Given the description of an element on the screen output the (x, y) to click on. 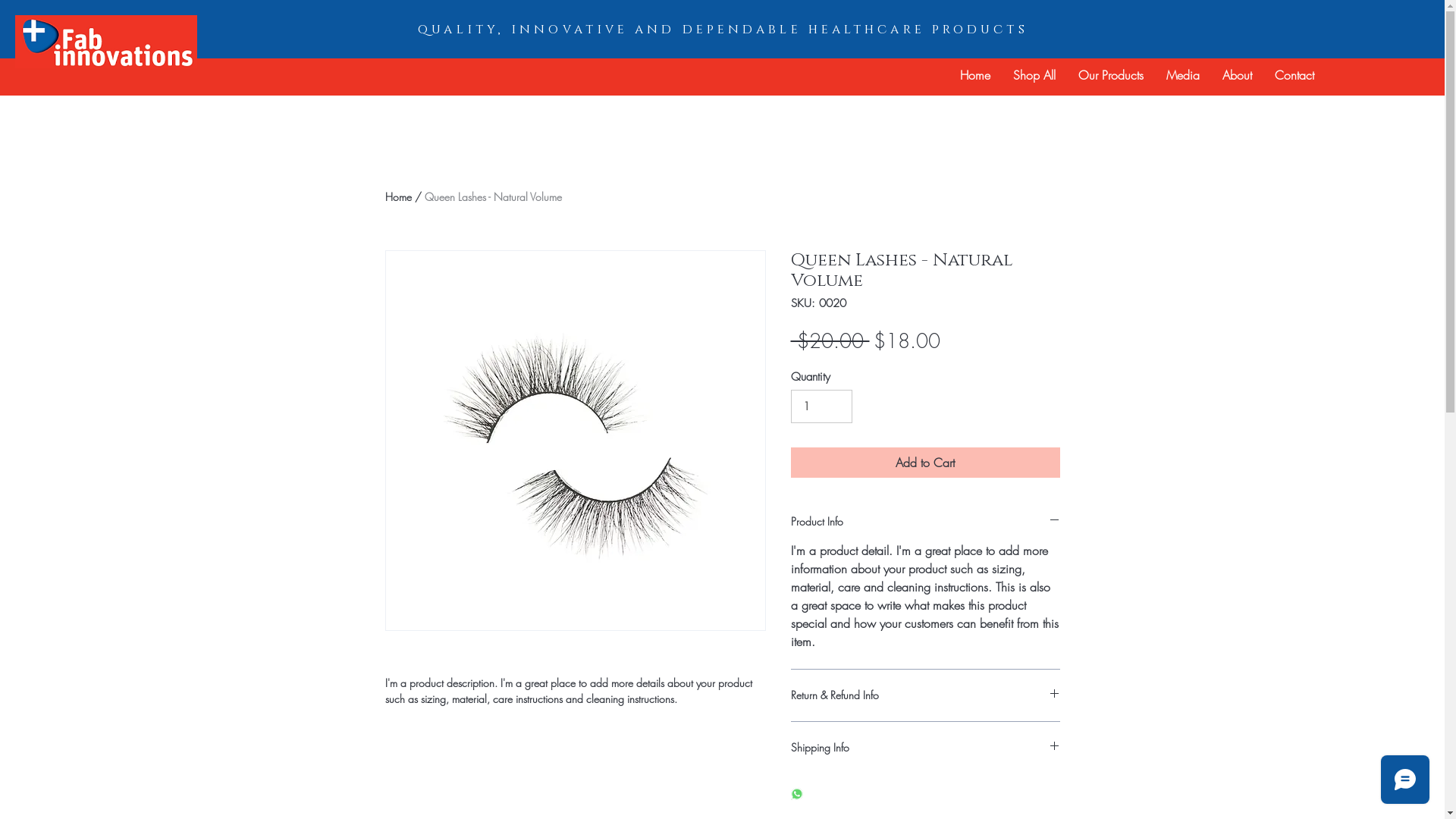
Contact Element type: text (1294, 74)
Home Element type: text (974, 74)
About Element type: text (1237, 74)
Shipping Info Element type: text (924, 747)
Queen Lashes - Natural Volume Element type: text (492, 196)
Home Element type: text (398, 196)
Product Info Element type: text (924, 521)
Shop All Element type: text (1033, 74)
Add to Cart Element type: text (924, 462)
Media Element type: text (1182, 74)
Return & Refund Info Element type: text (924, 694)
